Given the description of an element on the screen output the (x, y) to click on. 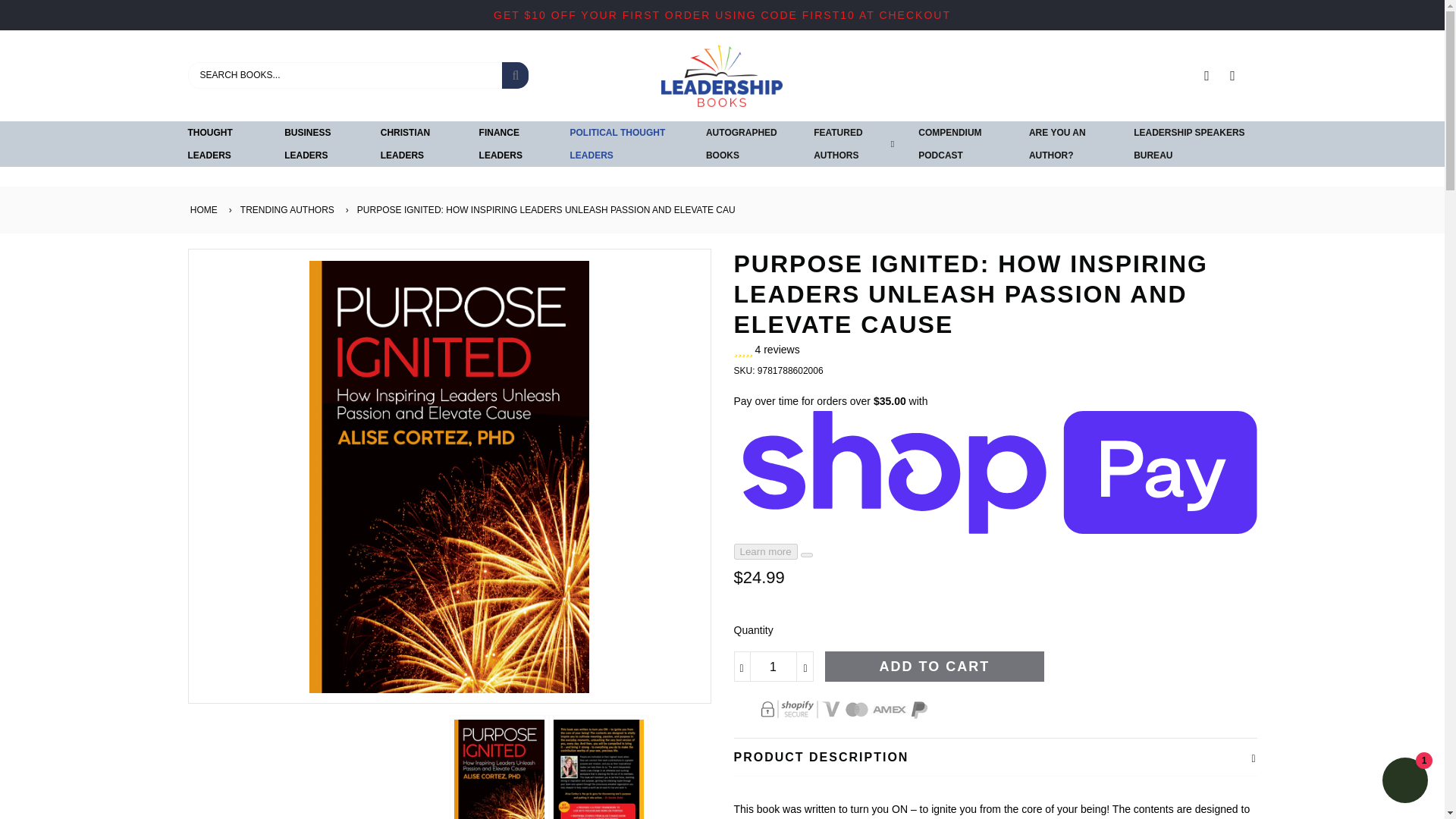
Shopify online store chat (1404, 781)
BUSINESS LEADERS (319, 144)
THOUGHT LEADERS (223, 144)
ARE YOU AN AUTHOR? (1069, 144)
1 (773, 666)
LEADERSHIP SPEAKERS BUREAU (1195, 144)
FINANCE LEADERS (512, 144)
POLITICAL THOUGHT LEADERS (625, 144)
Home (201, 209)
FEATURED AUTHORS (849, 144)
COMPENDIUM PODCAST (961, 144)
AUTOGRAPHED BOOKS (747, 144)
CHRISTIAN LEADERS (417, 144)
